Given the description of an element on the screen output the (x, y) to click on. 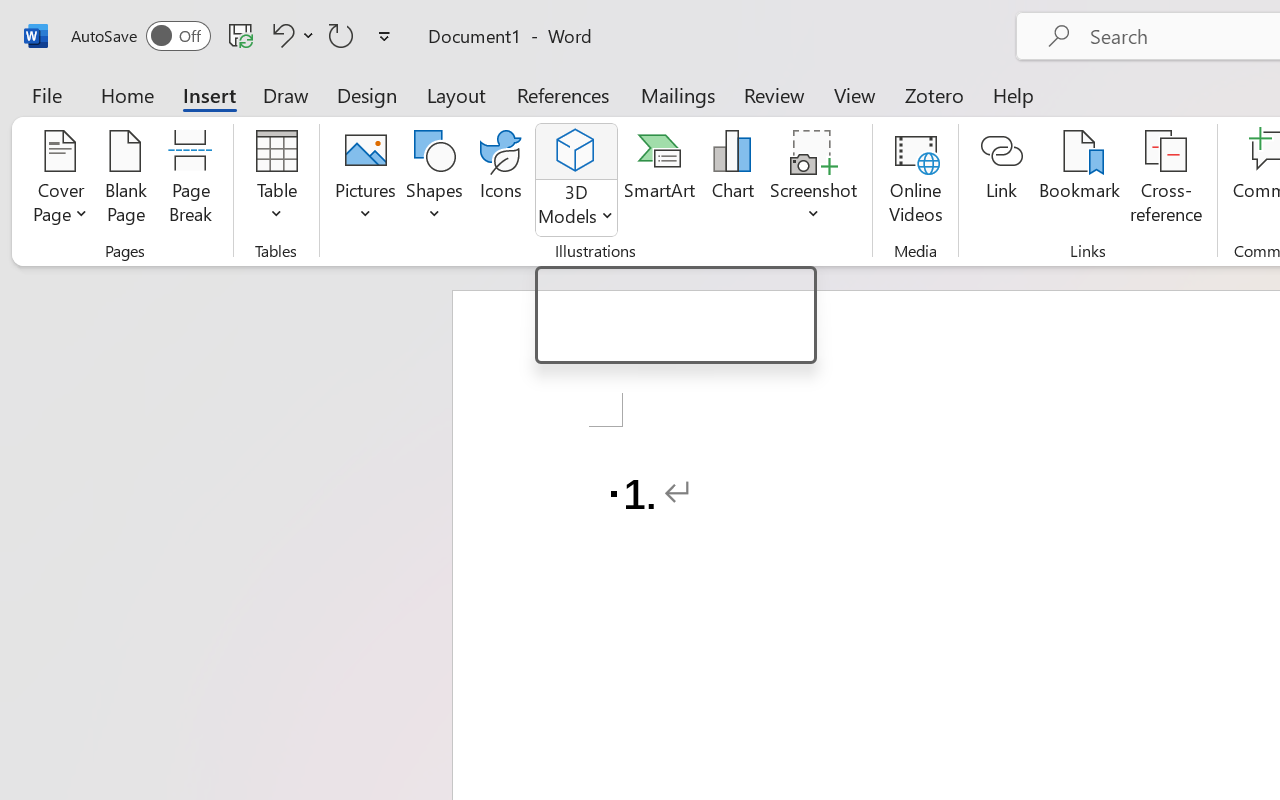
Cross-reference... (1165, 179)
Shapes (435, 179)
Undo Number Default (290, 35)
Blank Page (125, 179)
Screenshot (813, 179)
Link (1001, 179)
Page Break (190, 179)
Chart... (732, 179)
